Given the description of an element on the screen output the (x, y) to click on. 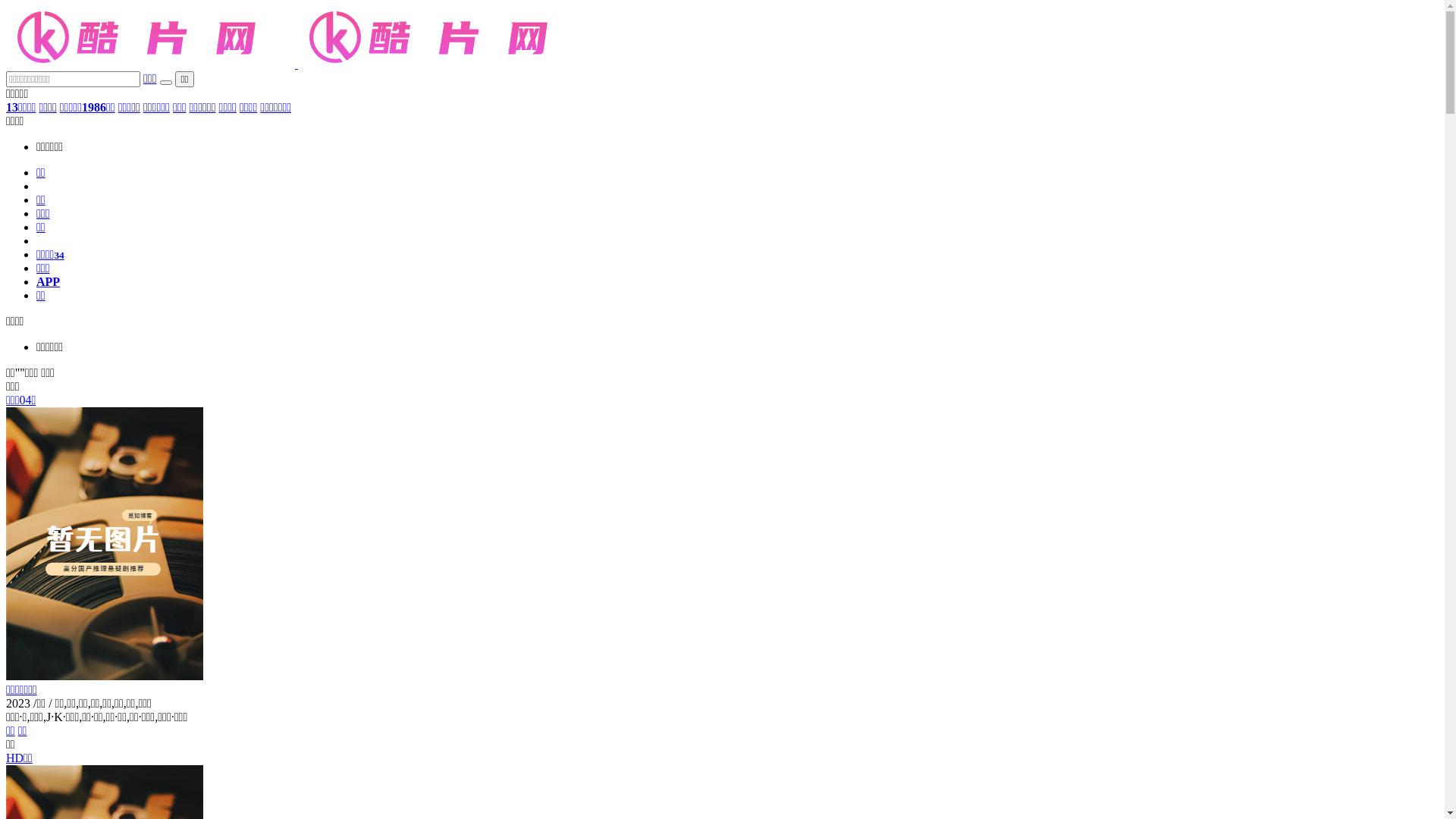
APP Element type: text (47, 281)
